Given the description of an element on the screen output the (x, y) to click on. 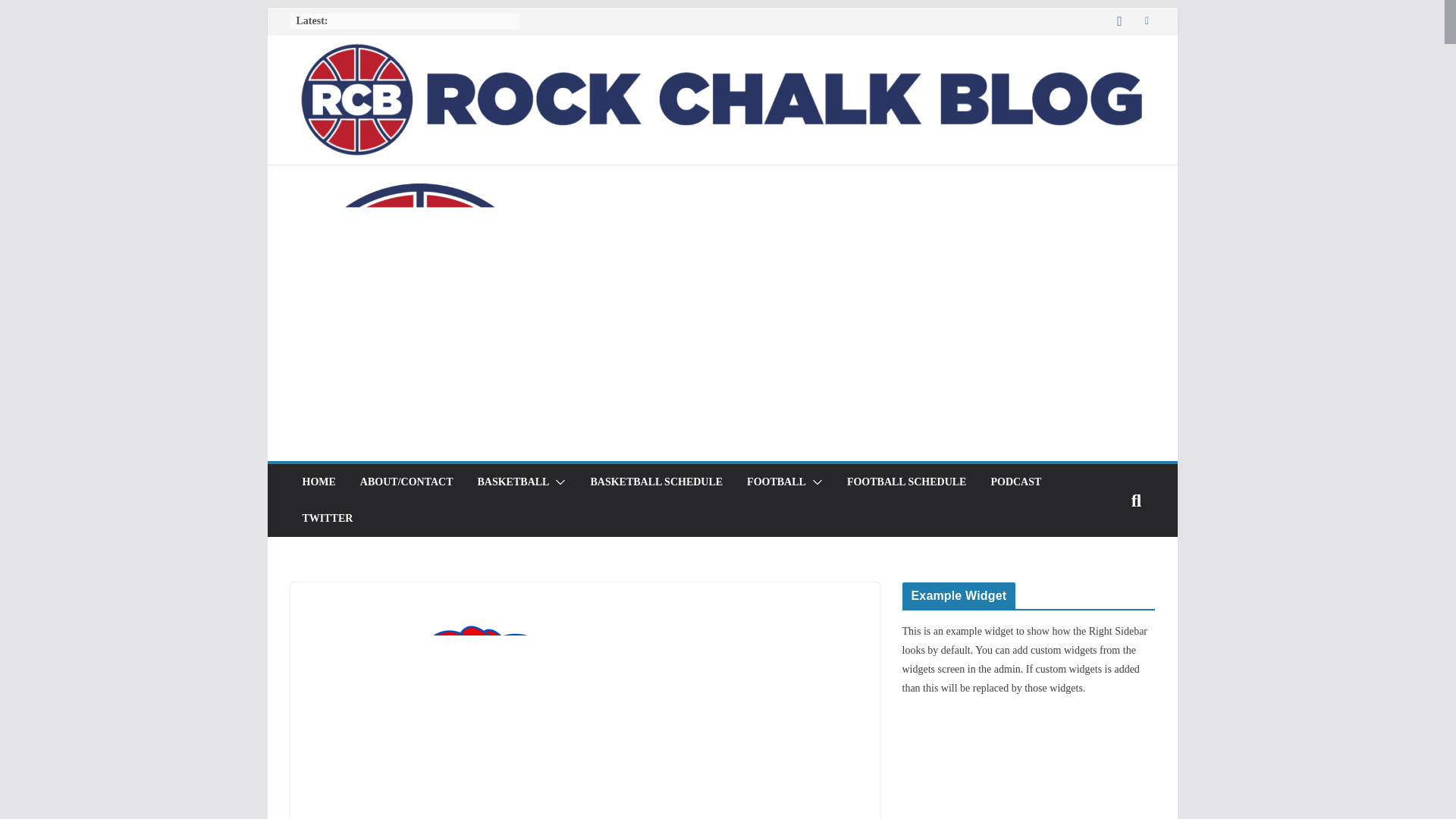
FOOTBALL (776, 482)
PODCAST (1015, 482)
FOOTBALL SCHEDULE (906, 482)
Rock Chalk Blog (721, 44)
BASKETBALL SCHEDULE (655, 482)
TWITTER (326, 518)
HOME (317, 482)
BASKETBALL (513, 482)
